Given the description of an element on the screen output the (x, y) to click on. 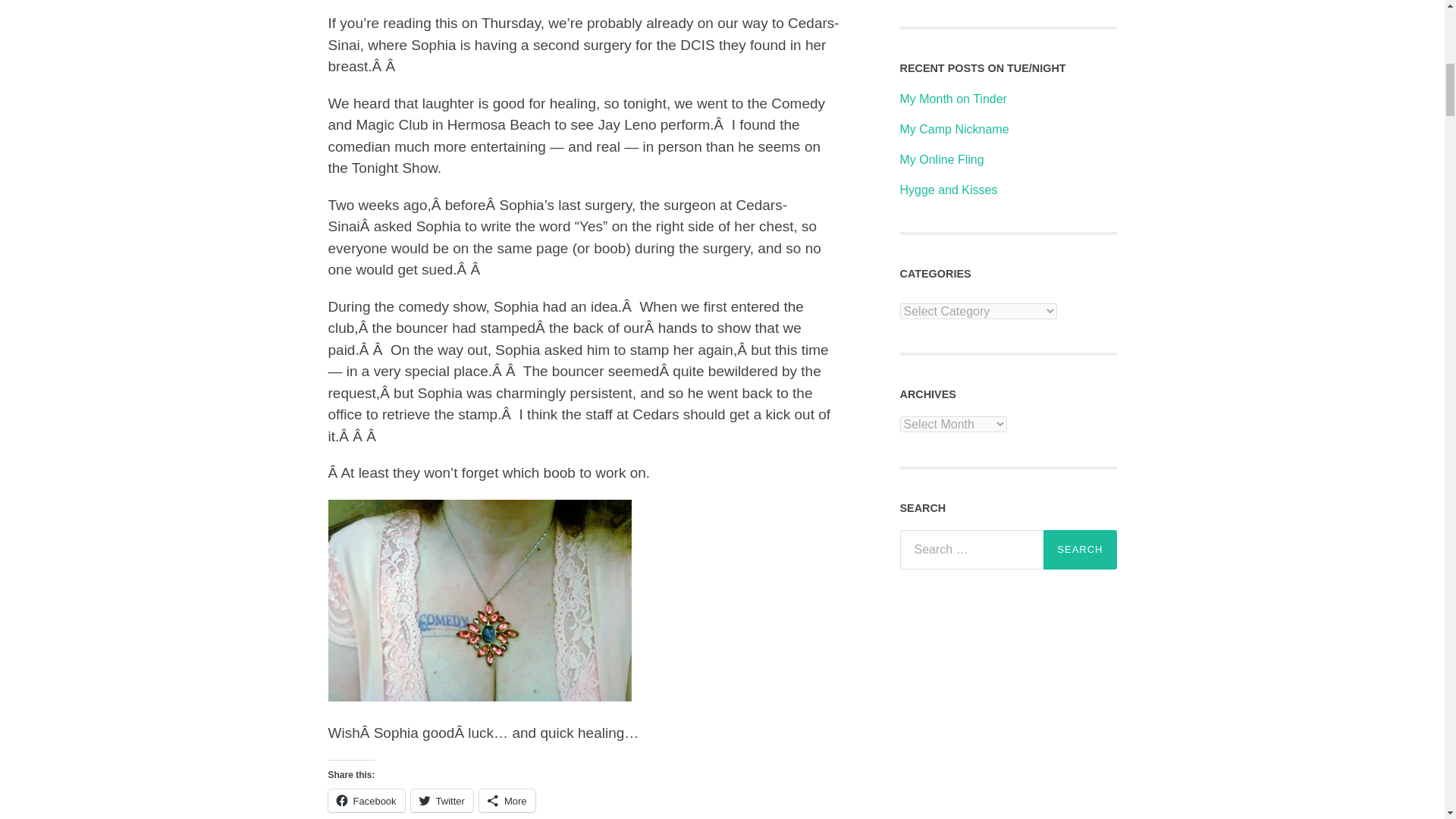
More (507, 800)
Search (1079, 549)
Click to share on Facebook (365, 800)
Facebook (365, 800)
Click to share on Twitter (441, 800)
Twitter (441, 800)
Search (1079, 549)
comedy2.jpg (478, 696)
